Given the description of an element on the screen output the (x, y) to click on. 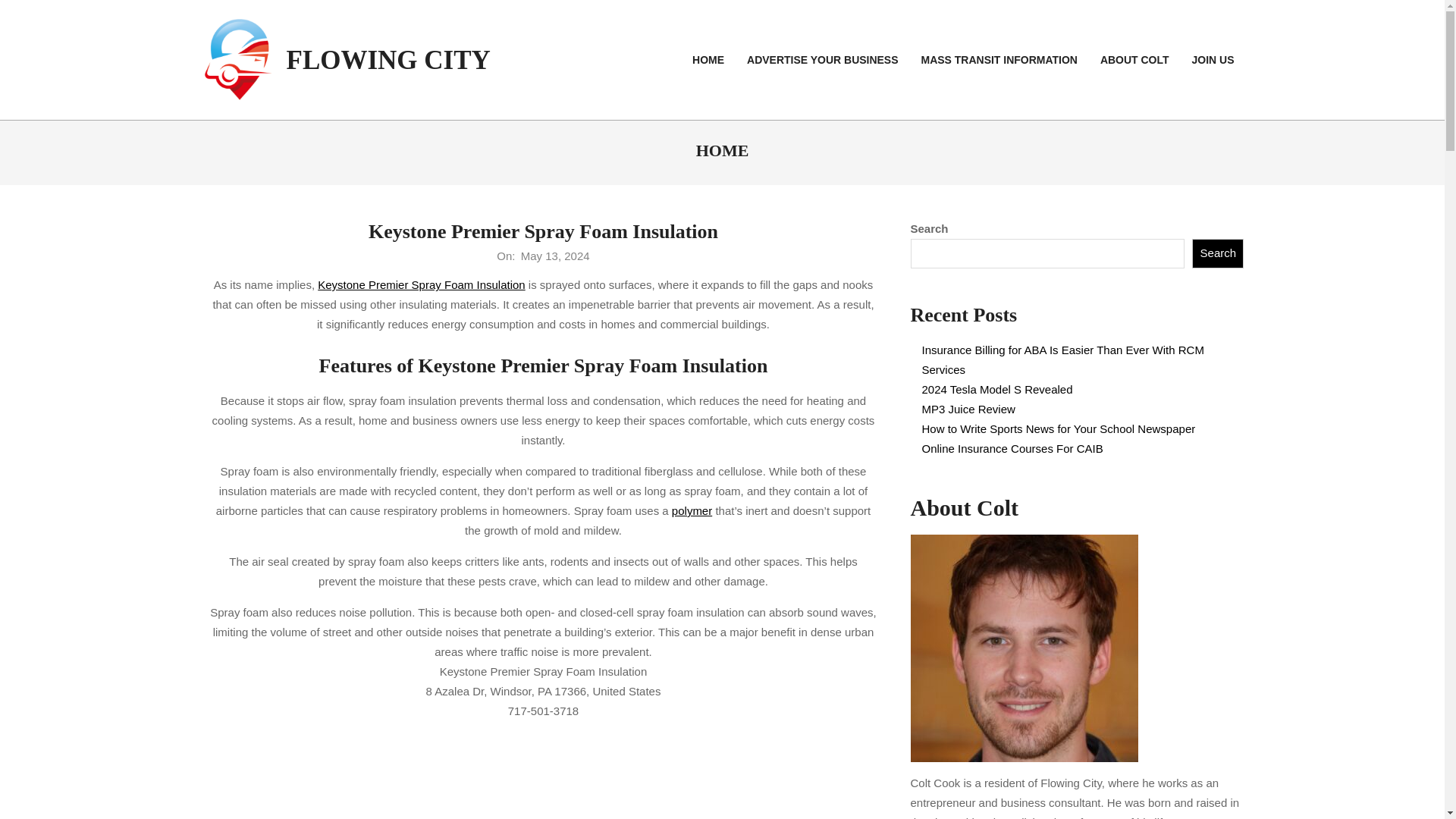
ADVERTISE YOUR BUSINESS (821, 60)
Search (1217, 253)
FLOWING CITY (388, 60)
Monday, May 13, 2024, 4:40 am (555, 255)
2024 Tesla Model S Revealed (997, 389)
MASS TRANSIT INFORMATION (999, 60)
MP3 Juice Review (967, 408)
Keystone Premier Spray Foam Insulation (542, 231)
ABOUT COLT (1134, 60)
How to Write Sports News for Your School Newspaper (1058, 428)
Online Insurance Courses For CAIB (1012, 448)
Keystone Premier Spray Foam Insulation (420, 284)
HOME (708, 60)
polymer (691, 510)
